Given the description of an element on the screen output the (x, y) to click on. 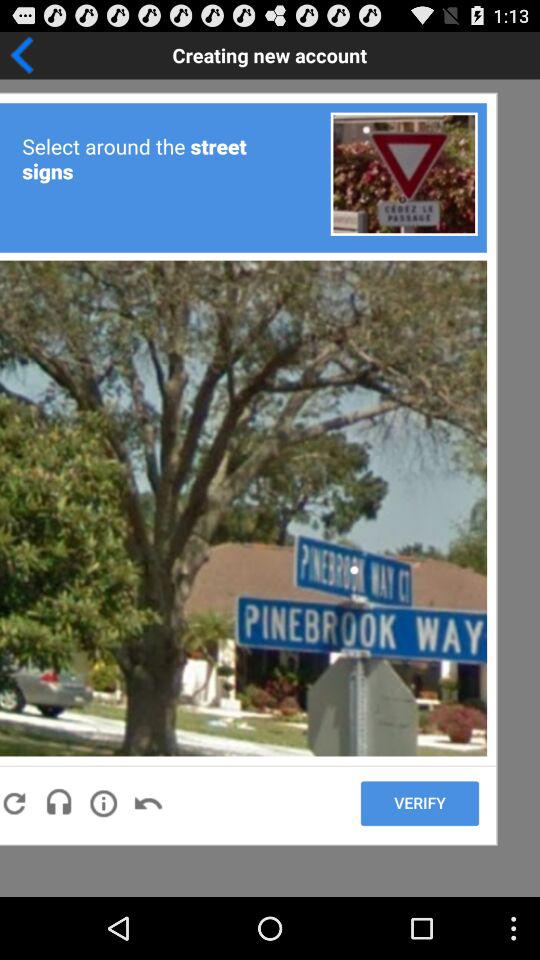
back to previous menu (84, 55)
